Given the description of an element on the screen output the (x, y) to click on. 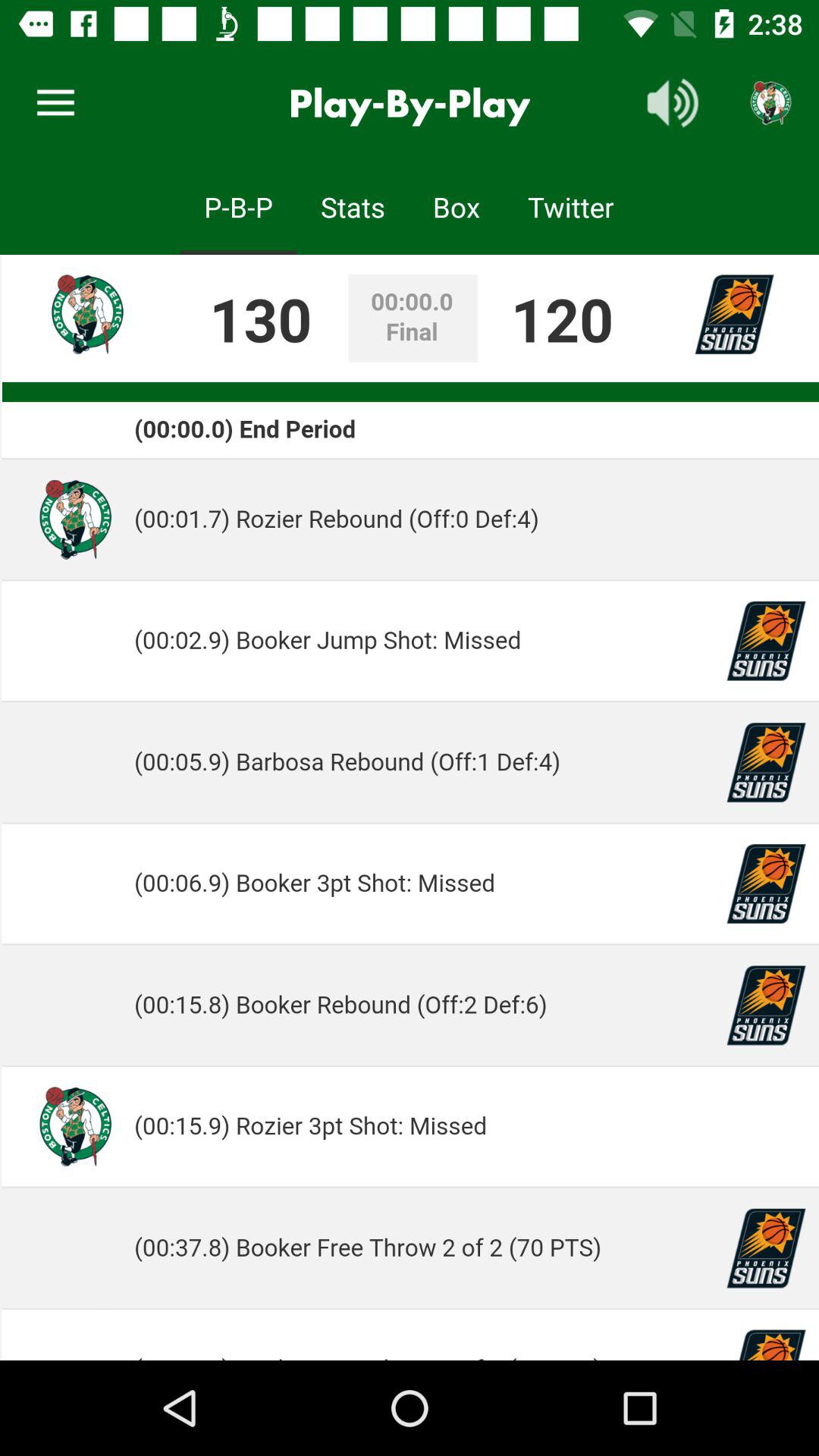
choose the description (409, 807)
